Given the description of an element on the screen output the (x, y) to click on. 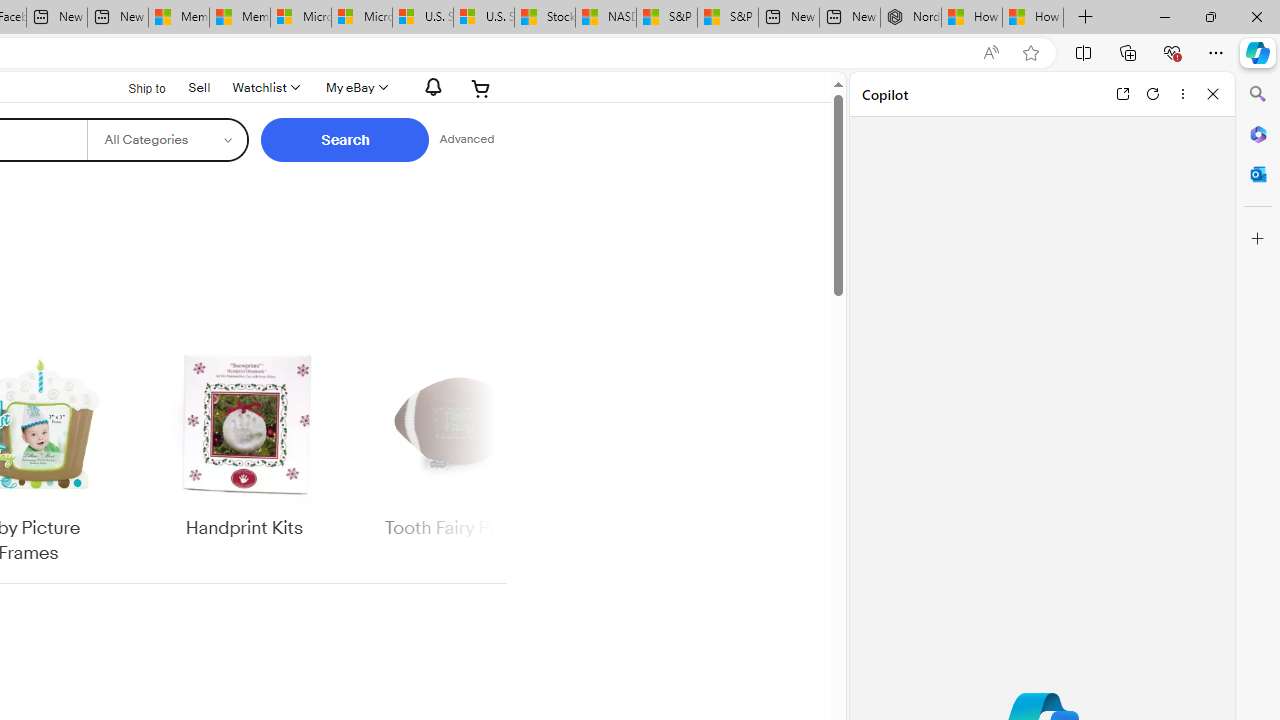
Sell (199, 86)
My eBayExpand My eBay (354, 88)
Handprint Kits (244, 455)
Expand Cart (481, 88)
Open link in new tab (1122, 93)
Go to next slide (493, 455)
